Given the description of an element on the screen output the (x, y) to click on. 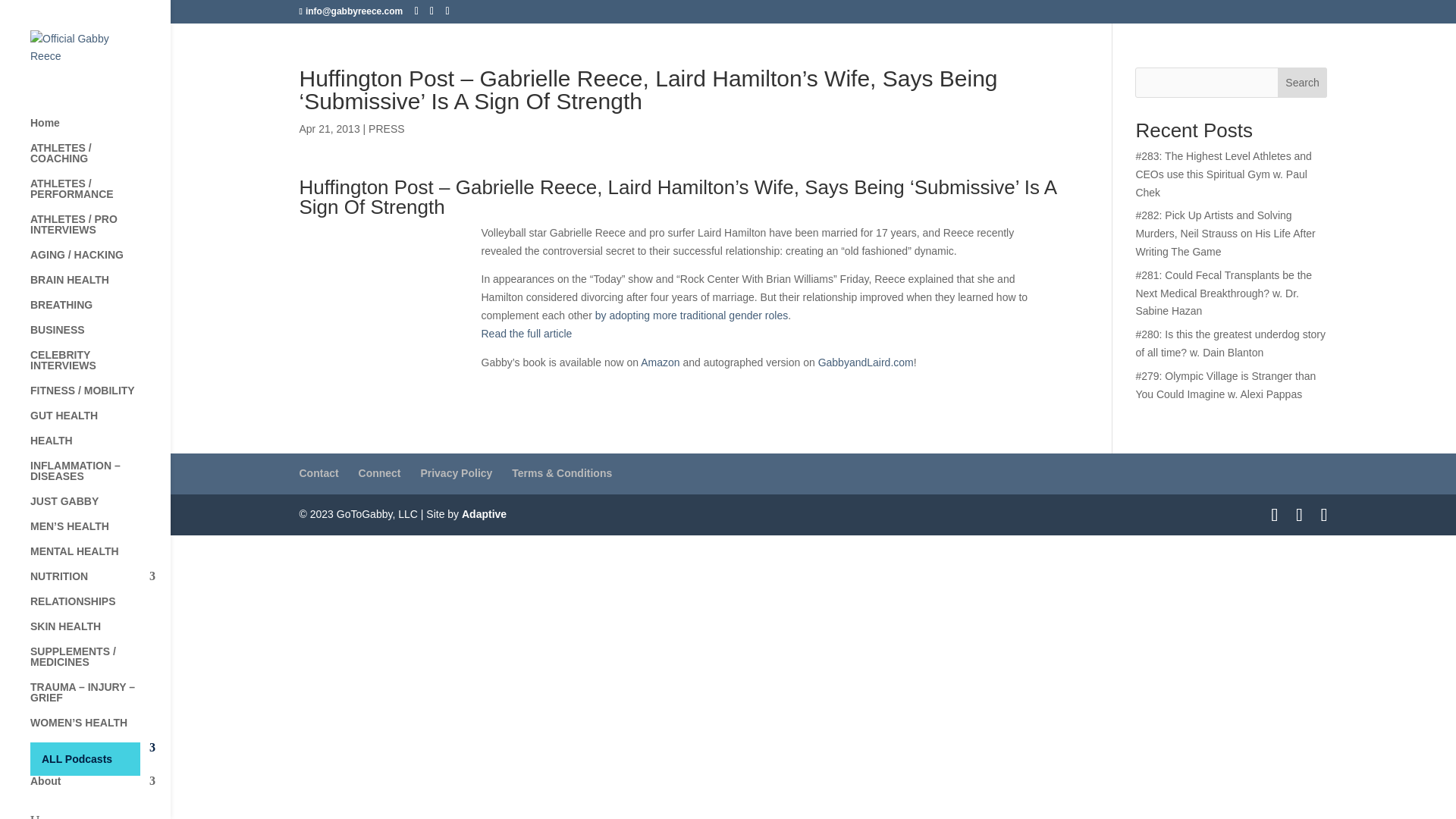
BREATHING (100, 311)
JUST GABBY (100, 508)
BUSINESS (100, 336)
GUT HEALTH (100, 422)
BRAIN HEALTH (100, 286)
Home (100, 129)
HEALTH (100, 447)
CELEBRITY INTERVIEWS (100, 366)
